Given the description of an element on the screen output the (x, y) to click on. 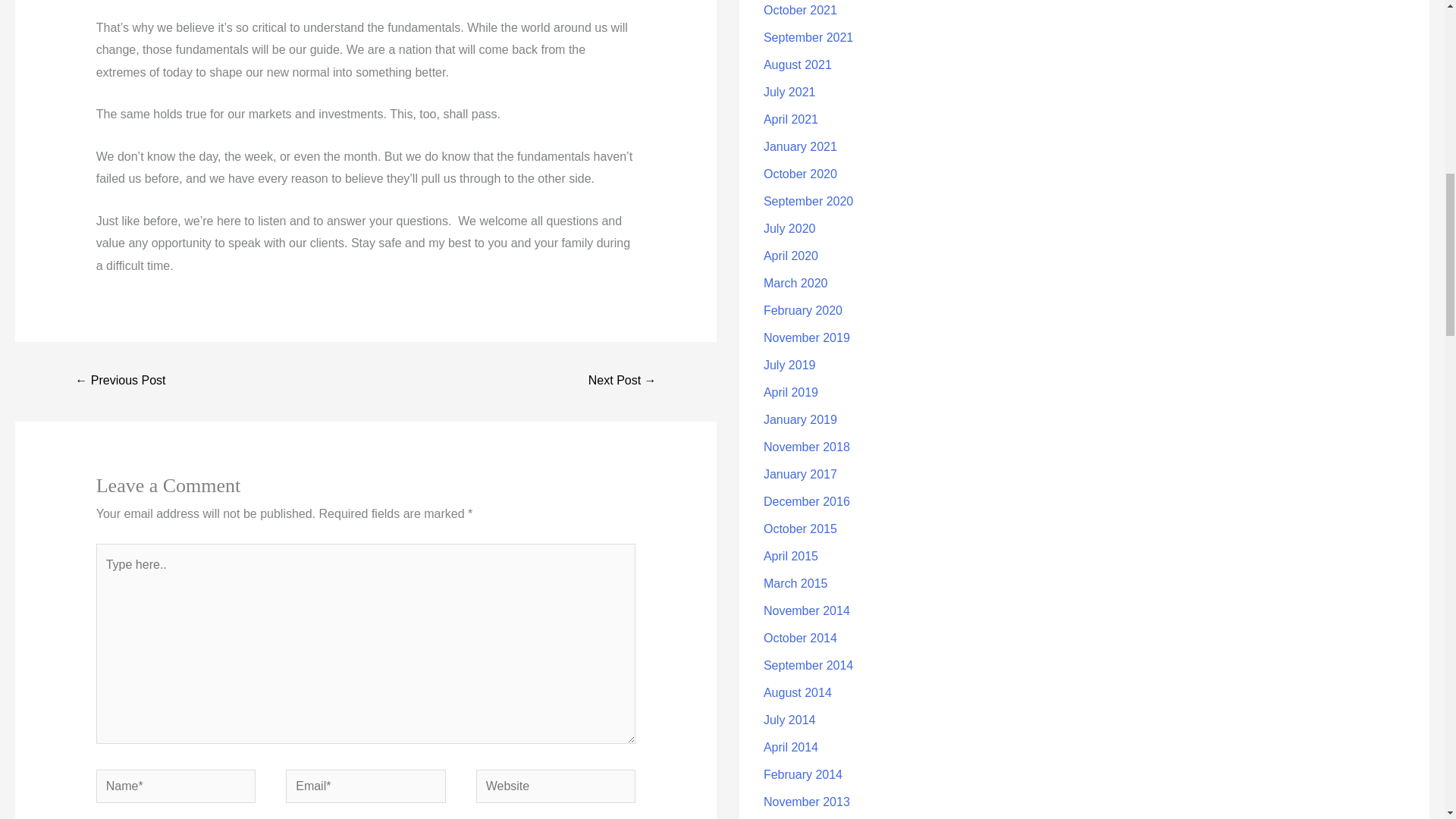
August 2021 (796, 31)
yes (101, 809)
September 2021 (807, 5)
April 2021 (790, 86)
Don't Overreact to the Movements (622, 348)
We're Here to Help (119, 348)
July 2021 (788, 59)
